Given the description of an element on the screen output the (x, y) to click on. 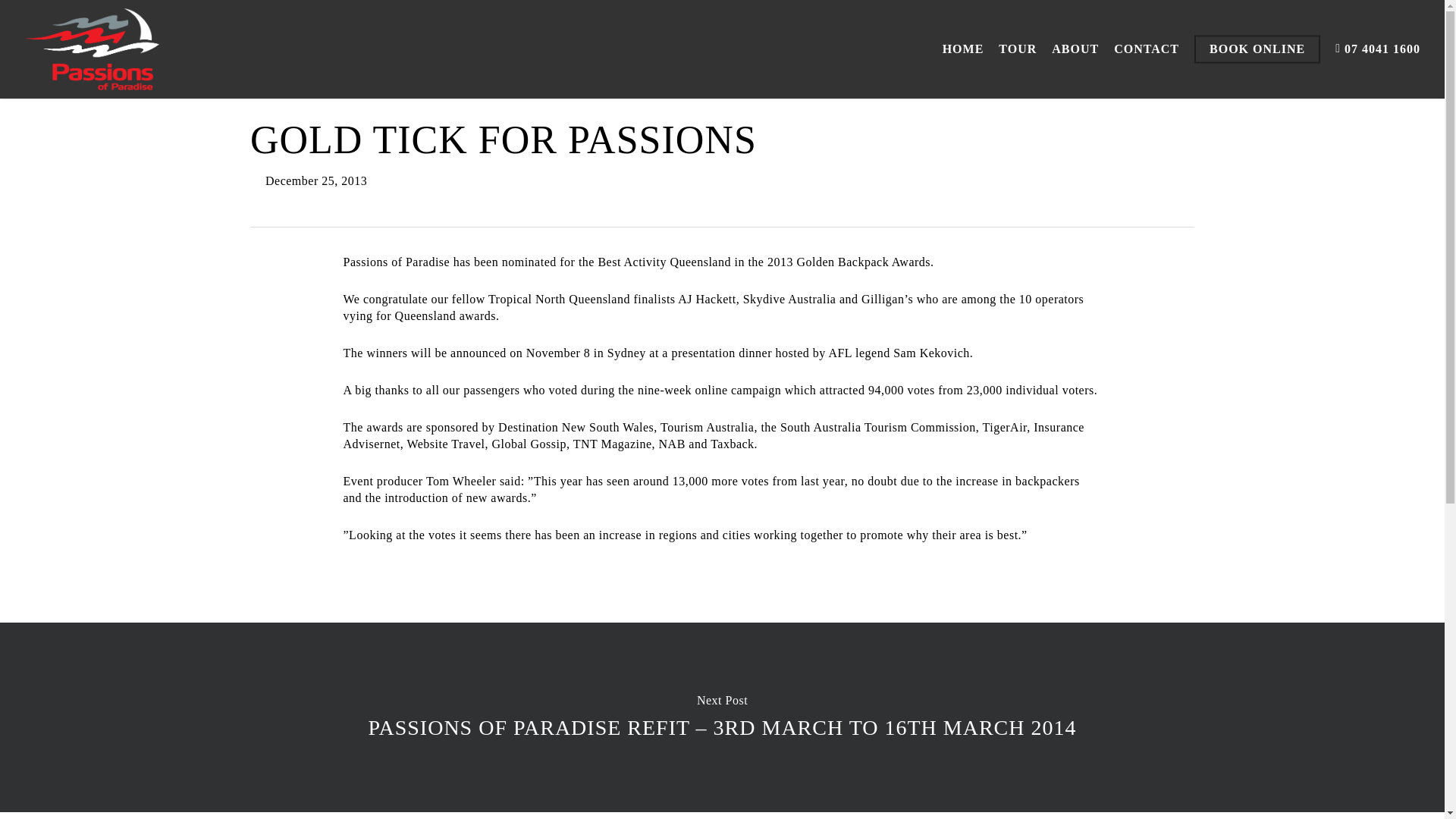
07 4041 1600 (1378, 49)
ABOUT (1075, 49)
CONTACT (1146, 49)
BOOK ONLINE (1256, 49)
HOME (963, 49)
TOUR (1017, 49)
